Given the description of an element on the screen output the (x, y) to click on. 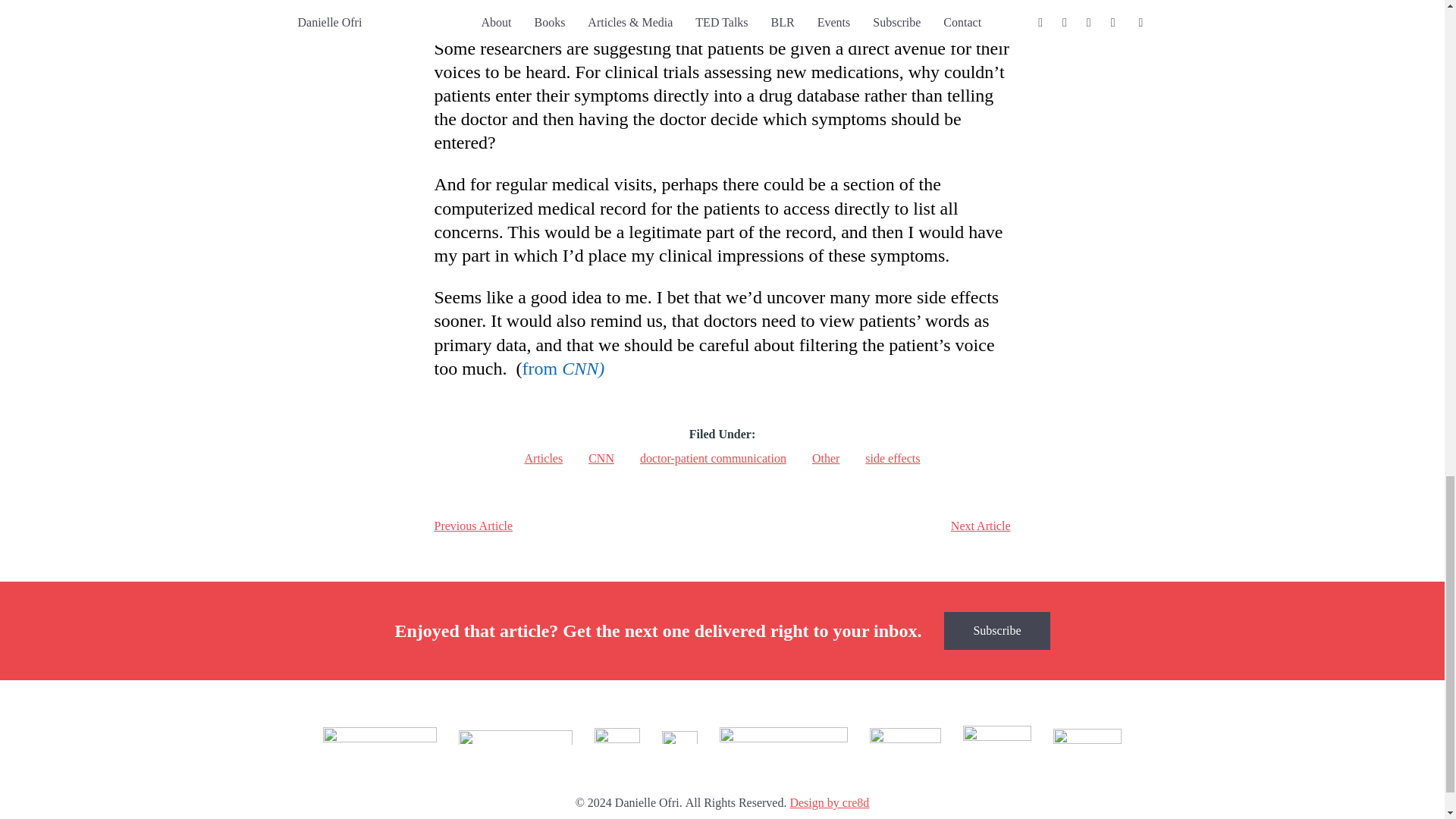
Other (826, 458)
Subscribe (996, 630)
doctor-patient communication (713, 458)
side effects (892, 458)
Previous Article (472, 525)
CNN (601, 458)
Articles (543, 458)
Next Article (980, 525)
